Given the description of an element on the screen output the (x, y) to click on. 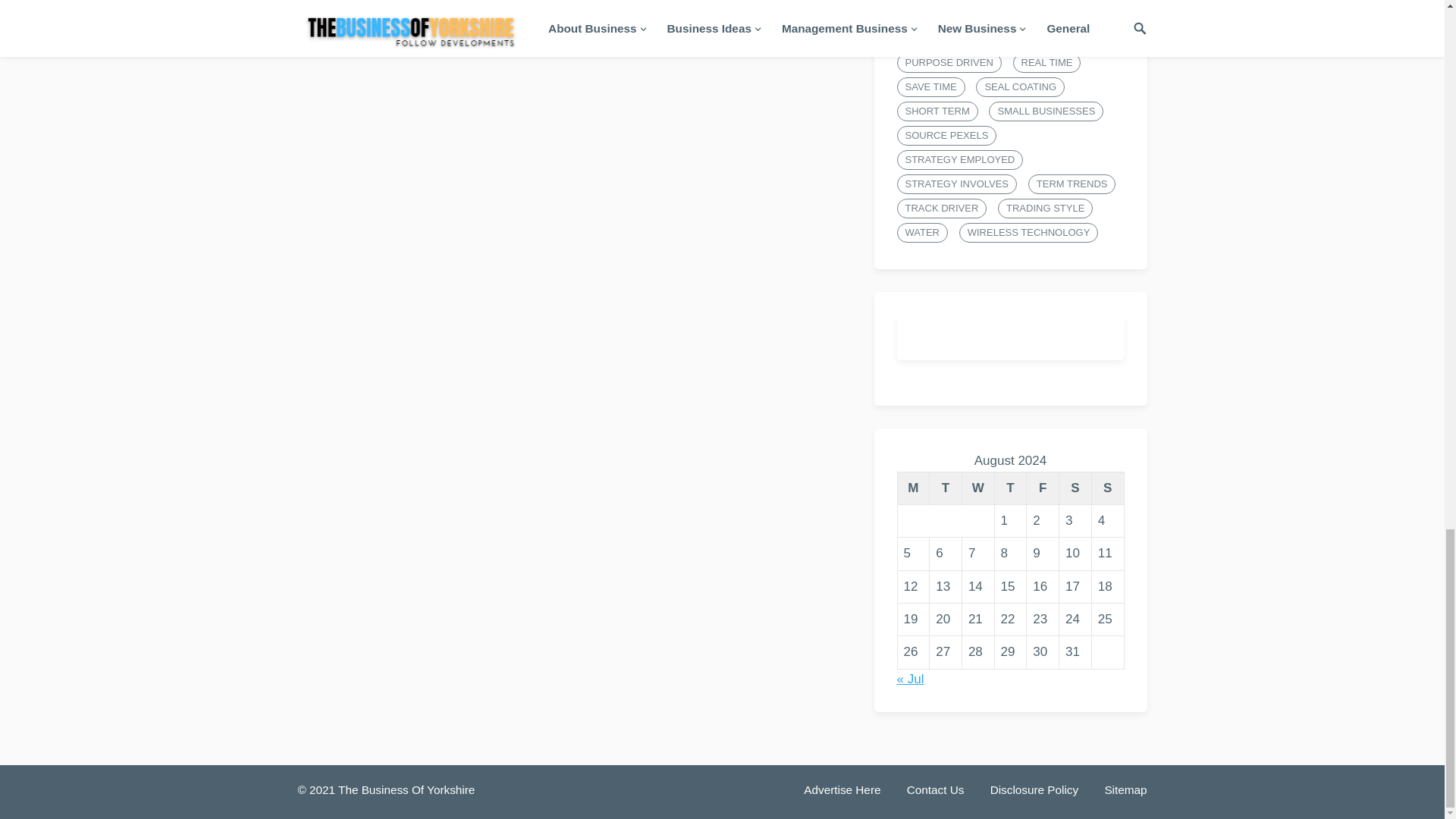
Sunday (1107, 487)
Wednesday (977, 487)
Monday (913, 487)
Tuesday (946, 487)
Thursday (1010, 487)
Friday (1042, 487)
Saturday (1075, 487)
